Given the description of an element on the screen output the (x, y) to click on. 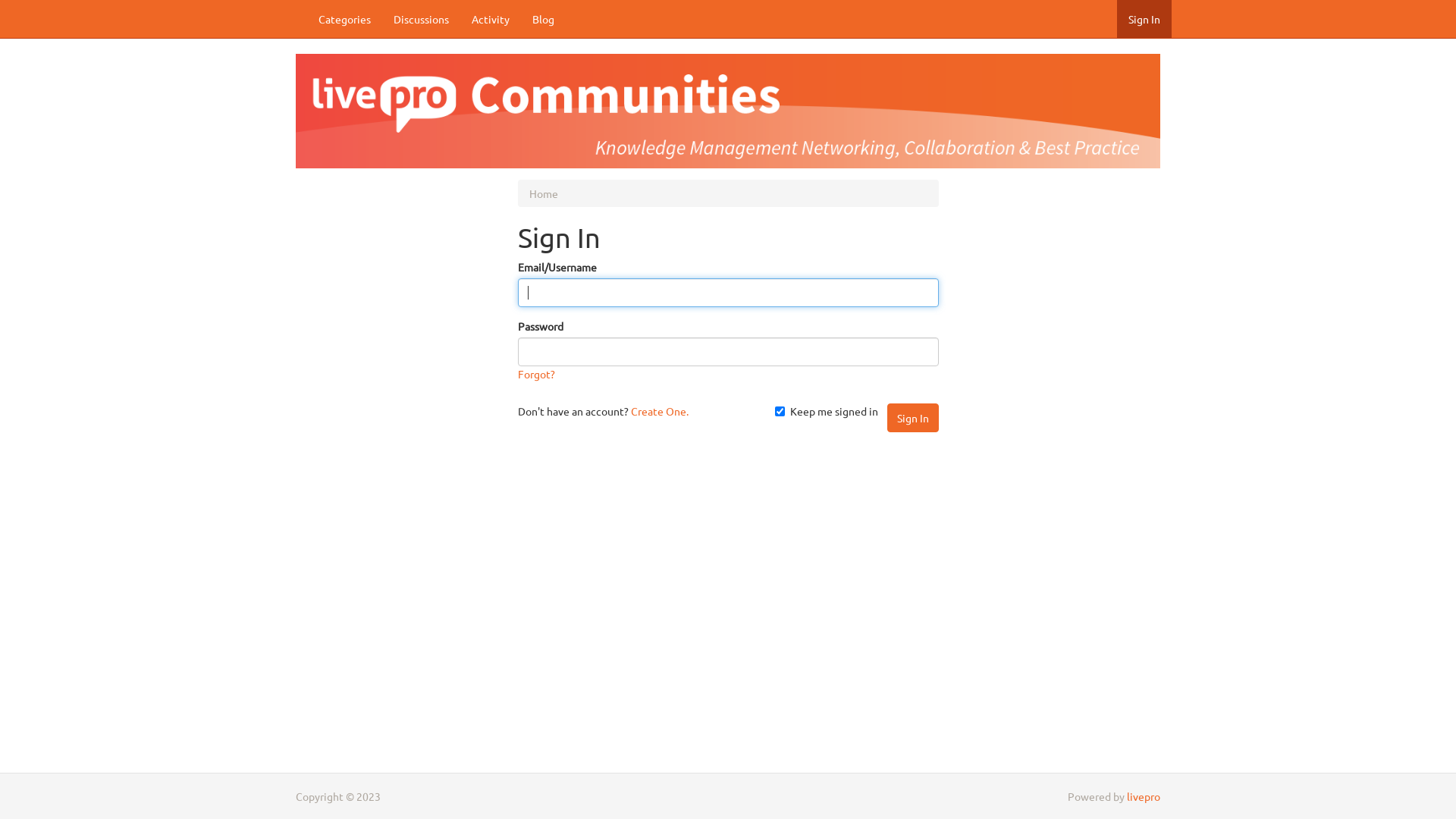
Sign In Element type: text (1144, 18)
Categories Element type: text (344, 18)
Sign In Element type: text (912, 417)
Create One. Element type: text (659, 410)
Discussions Element type: text (421, 18)
Activity Element type: text (490, 18)
Blog Element type: text (542, 18)
livepro Element type: text (1143, 796)
Home Element type: text (543, 193)
Forgot? Element type: text (535, 373)
